Given the description of an element on the screen output the (x, y) to click on. 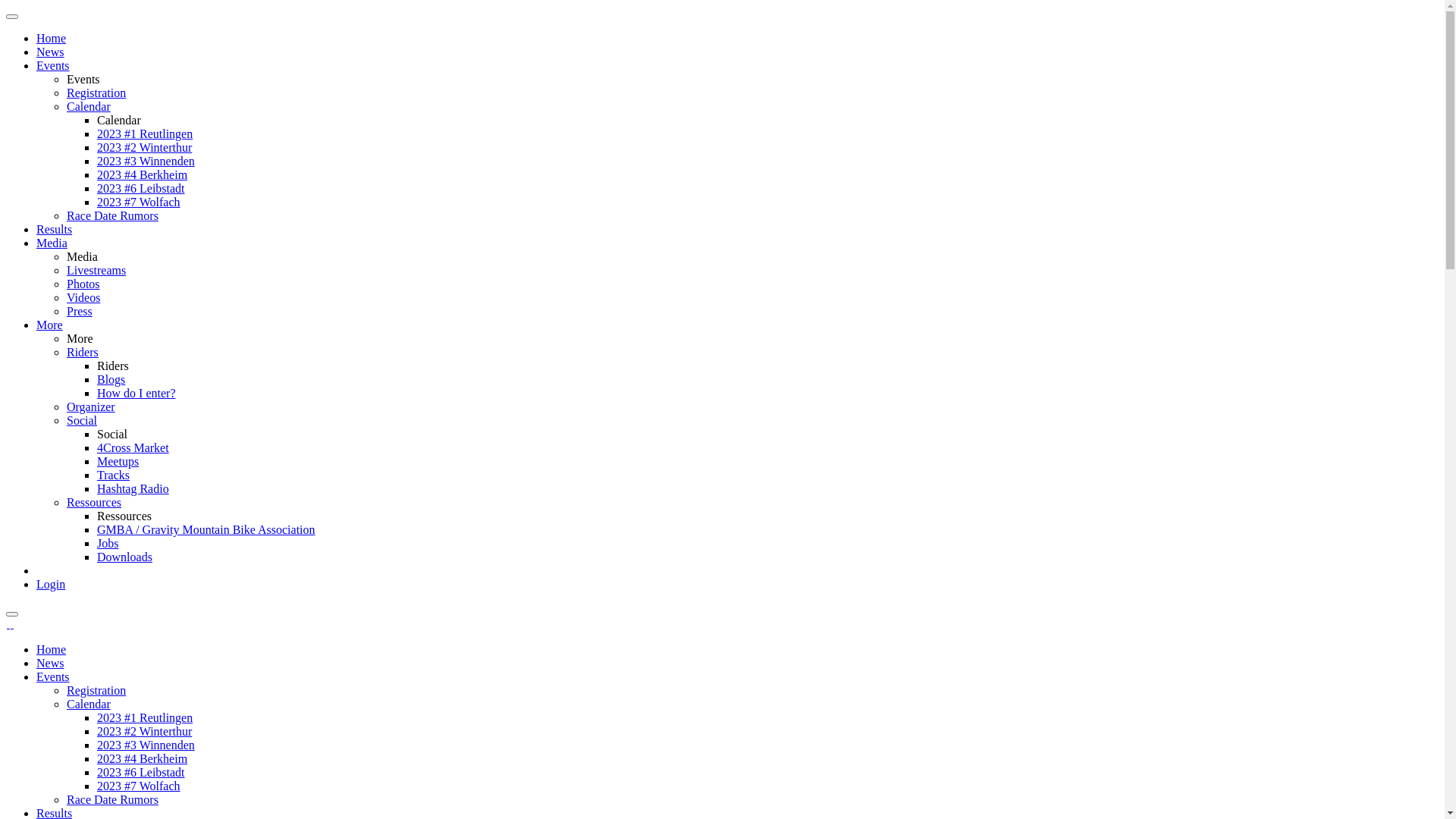
2023 #7 Wolfach Element type: text (138, 201)
Organizer Element type: text (90, 406)
Registration Element type: text (95, 92)
2023 #1 Reutlingen Element type: text (144, 133)
Meetups Element type: text (117, 461)
2023 #6 Leibstadt Element type: text (141, 771)
2023 #3 Winnenden Element type: text (145, 160)
Livestreams Element type: text (95, 269)
Registration Element type: text (95, 690)
Press Element type: text (79, 310)
Results Element type: text (54, 228)
Riders Element type: text (82, 351)
Home Element type: text (50, 649)
Calendar Element type: text (88, 703)
2023 #1 Reutlingen Element type: text (144, 717)
2023 #4 Berkheim Element type: text (142, 174)
2023 #6 Leibstadt Element type: text (141, 188)
News Element type: text (49, 662)
Photos Element type: text (83, 283)
2023 #2 Winterthur Element type: text (144, 730)
Calendar Element type: text (88, 106)
Home Element type: text (50, 37)
Login Element type: text (50, 583)
Downloads Element type: text (124, 556)
Jobs Element type: text (107, 542)
2023 #2 Winterthur Element type: text (144, 147)
4Cross Market Element type: text (133, 447)
Race Date Rumors Element type: text (112, 215)
Events Element type: text (52, 65)
Blogs Element type: text (111, 379)
Videos Element type: text (83, 297)
Tracks Element type: text (113, 474)
News Element type: text (49, 51)
Race Date Rumors Element type: text (112, 799)
More Element type: text (49, 324)
Hashtag Radio Element type: text (133, 488)
Social Element type: text (81, 420)
2023 #4 Berkheim Element type: text (142, 758)
GMBA / Gravity Mountain Bike Association Element type: text (206, 529)
Media Element type: text (51, 242)
2023 #3 Winnenden Element type: text (145, 744)
How do I enter? Element type: text (136, 392)
Events Element type: text (52, 676)
2023 #7 Wolfach Element type: text (138, 785)
Ressources Element type: text (93, 501)
